Given the description of an element on the screen output the (x, y) to click on. 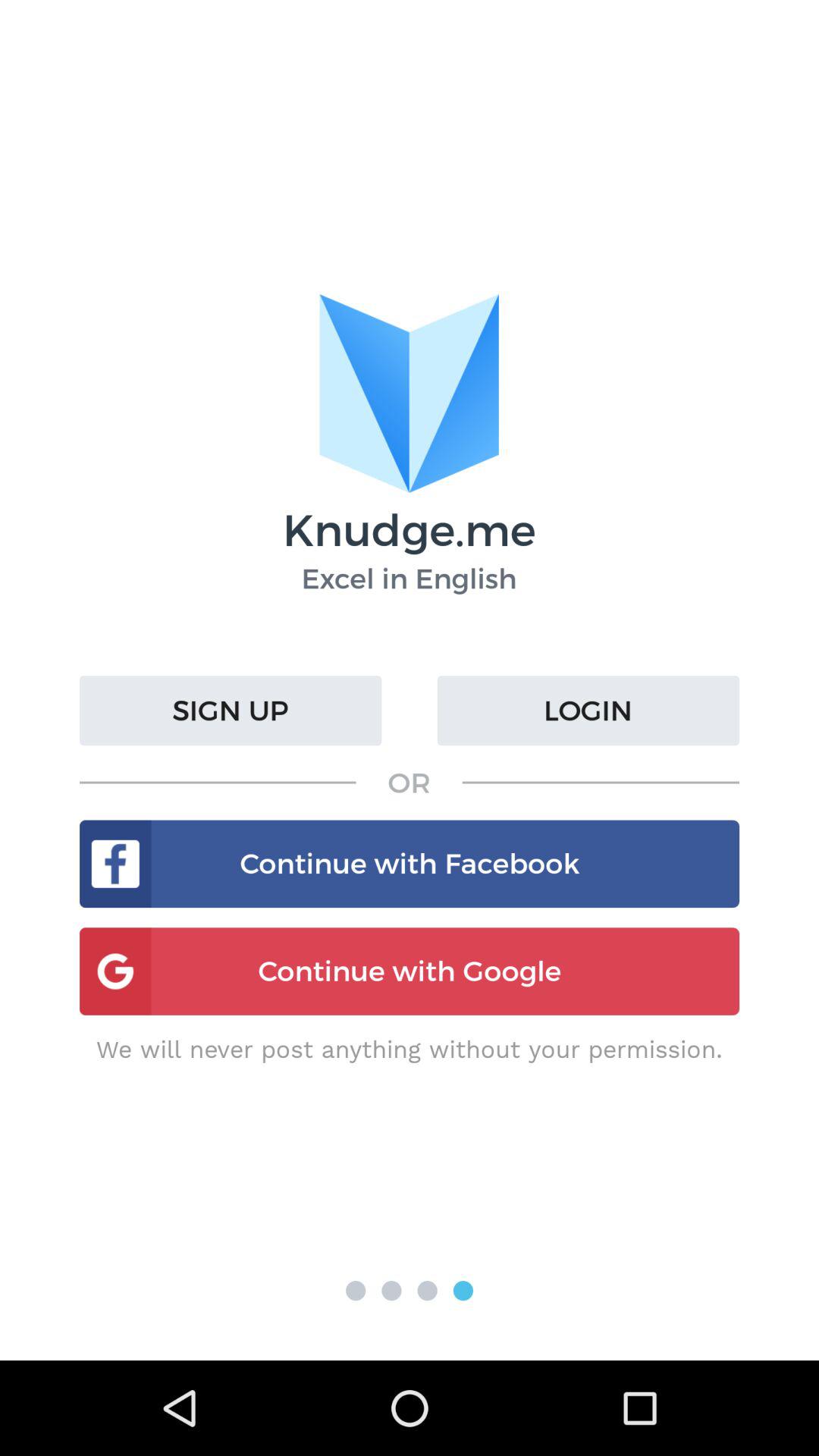
select the option which is on left to the blue color option on the web page (427, 1290)
click on the button below title (230, 710)
click on the button beside signup (588, 710)
click the button continue with google on the web page (409, 970)
